Given the description of an element on the screen output the (x, y) to click on. 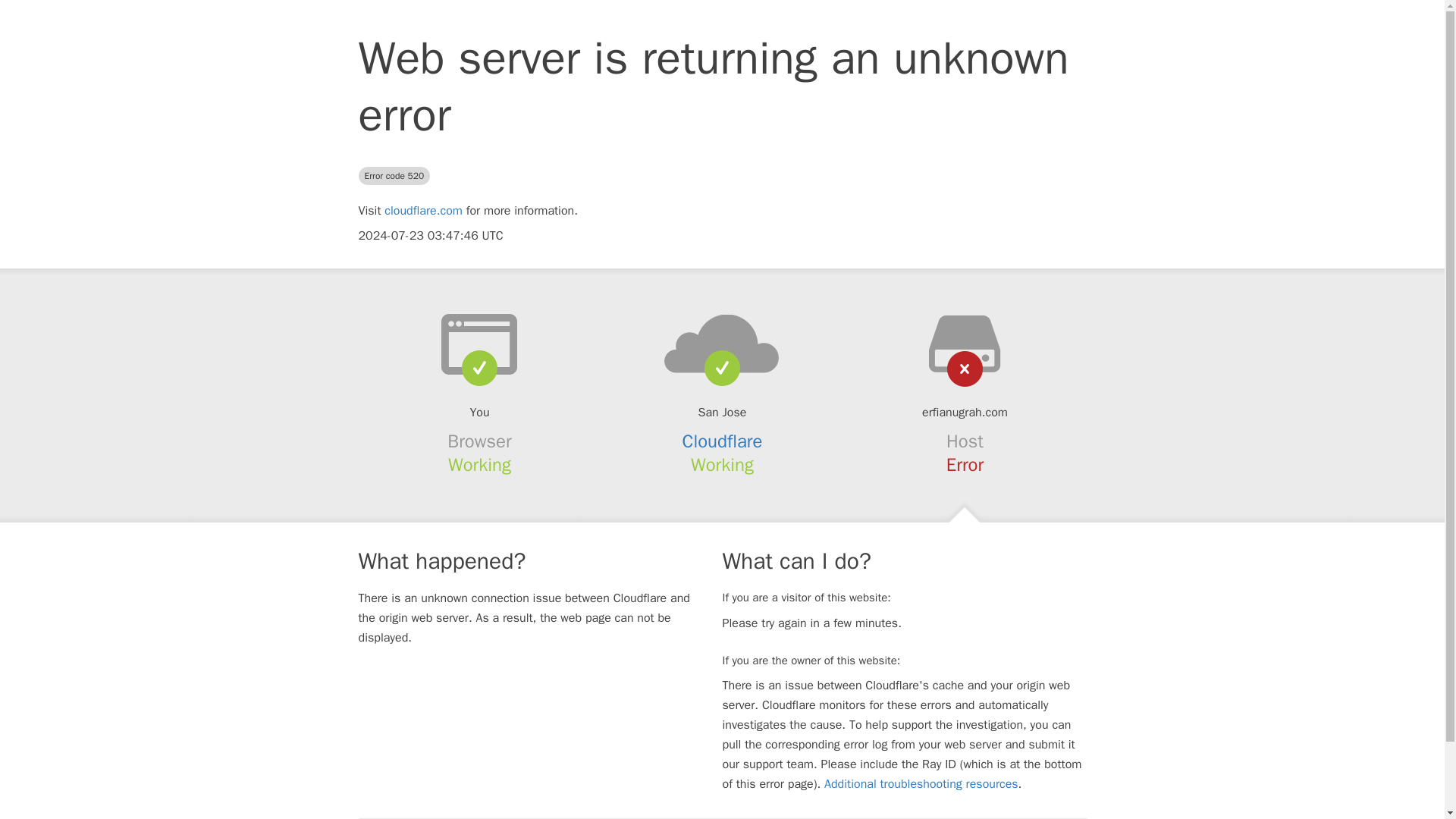
Additional troubleshooting resources (920, 783)
cloudflare.com (423, 210)
Cloudflare (722, 440)
